Given the description of an element on the screen output the (x, y) to click on. 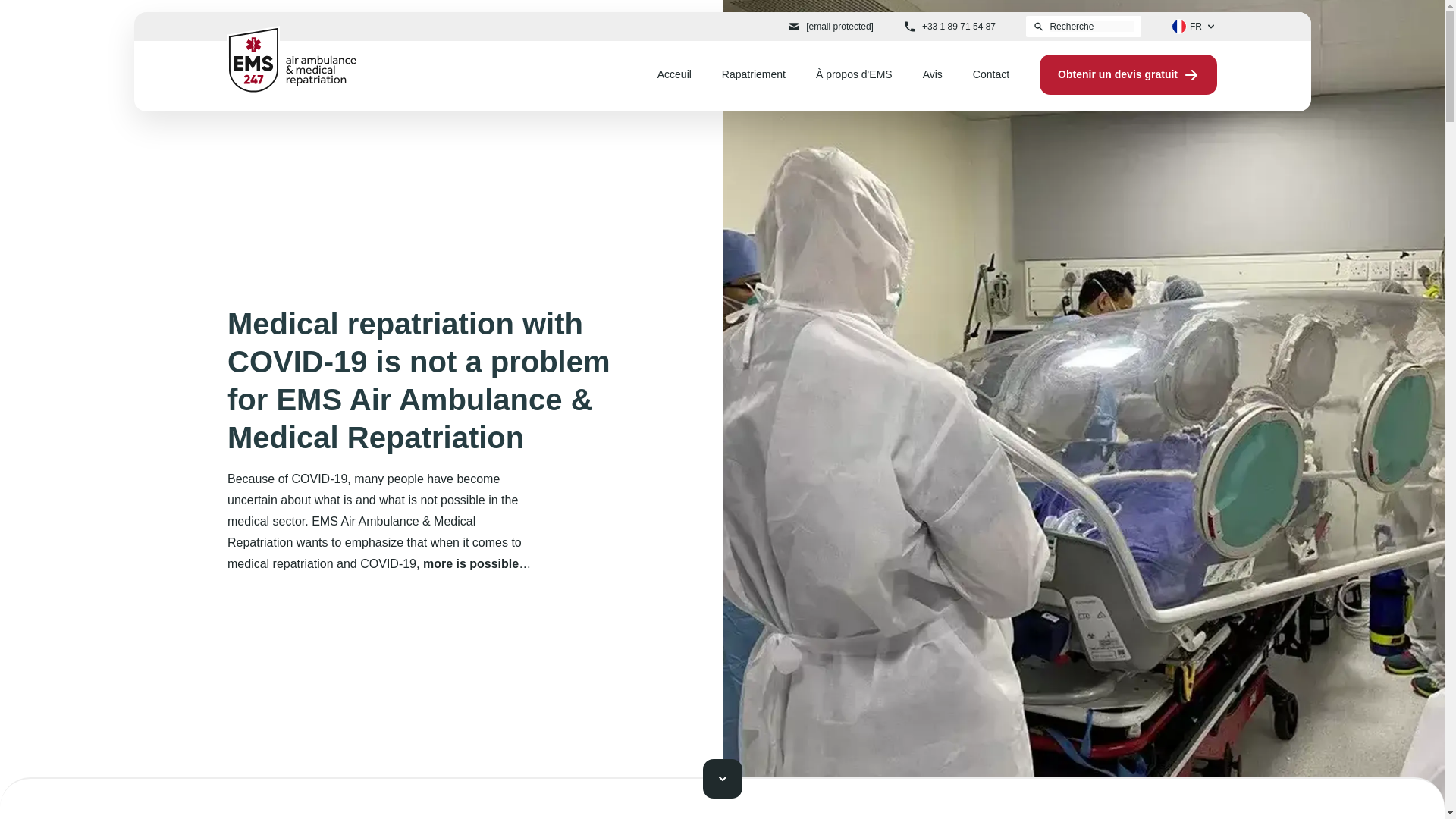
Acceuil (674, 74)
Avis (932, 74)
Contact (990, 74)
Avis (932, 74)
Acceuil (674, 74)
Obtenir un devis gratuit (1128, 74)
Contact (990, 74)
Homepage (291, 59)
Obtenir un devis gratuit (1128, 74)
FR (1194, 26)
Rapatriement (754, 74)
Rapatriement (754, 74)
Open (1194, 26)
